Given the description of an element on the screen output the (x, y) to click on. 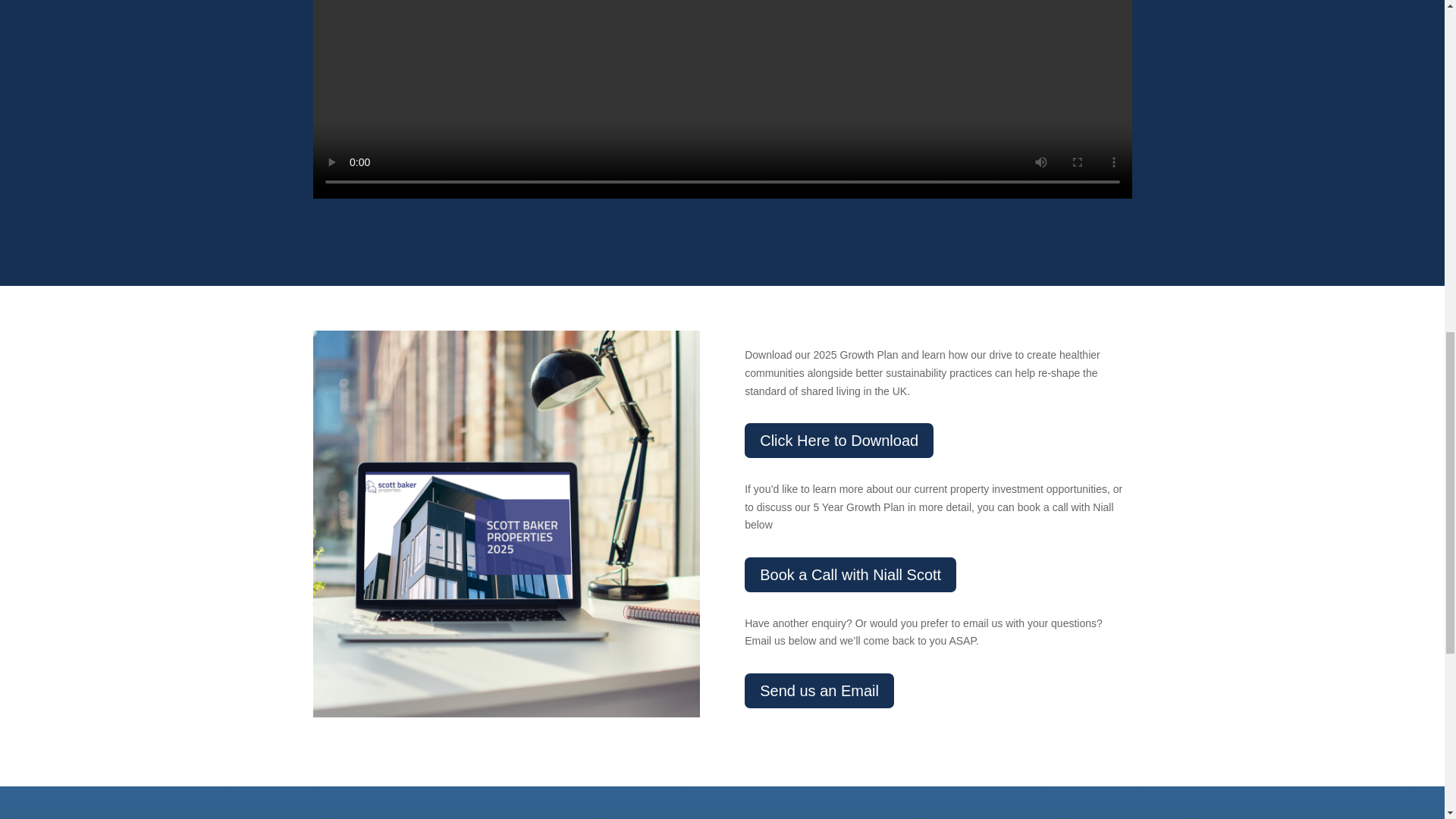
Send us an Email (818, 690)
Book a Call with Niall Scott (850, 574)
Click Here to Download (838, 440)
